Given the description of an element on the screen output the (x, y) to click on. 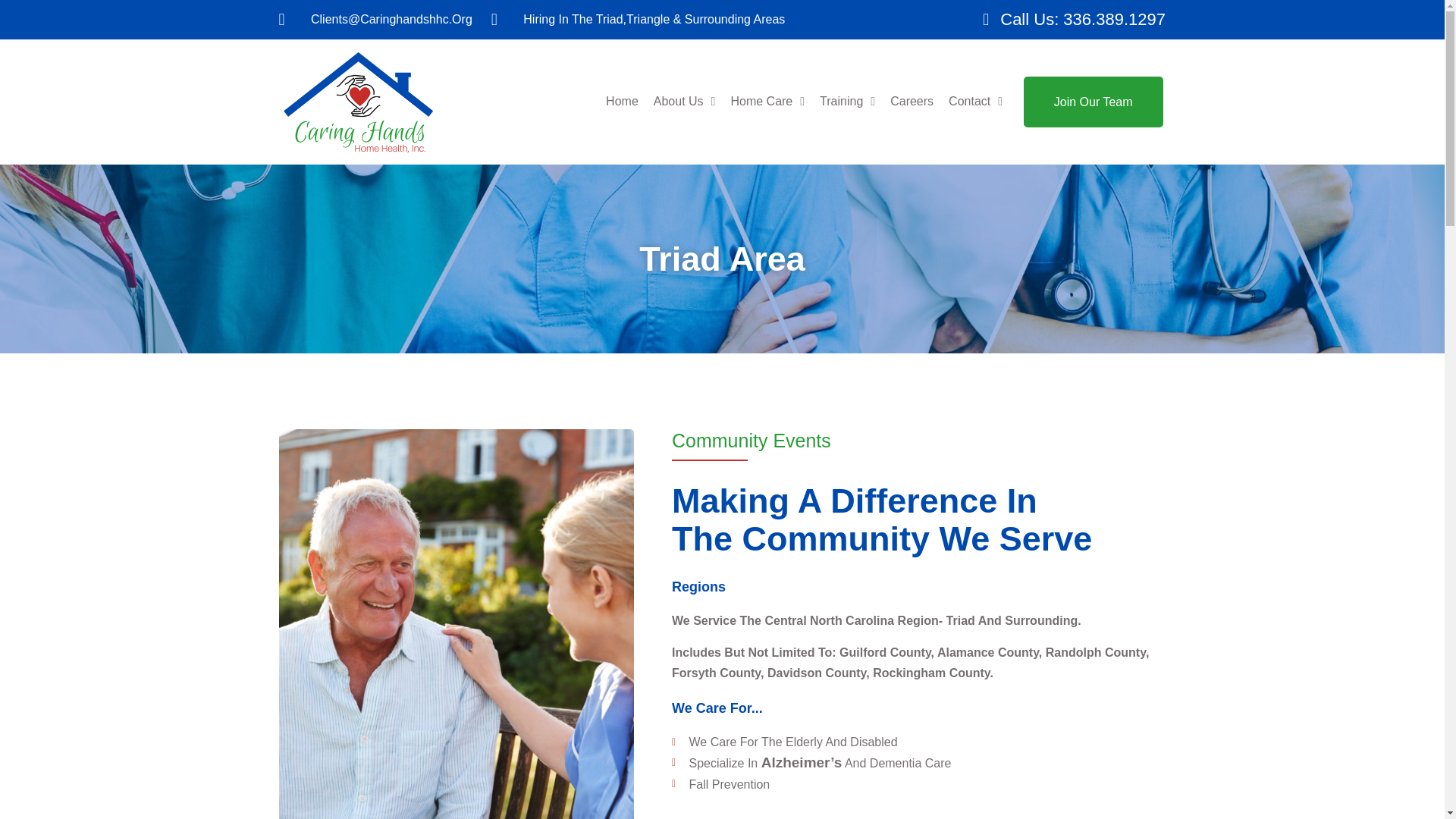
Home Care (767, 101)
Training (847, 101)
Join Our Team (1093, 101)
Contact (976, 101)
Careers (911, 101)
About Us (684, 101)
Home (622, 101)
Click Here To View All Services (765, 816)
